Given the description of an element on the screen output the (x, y) to click on. 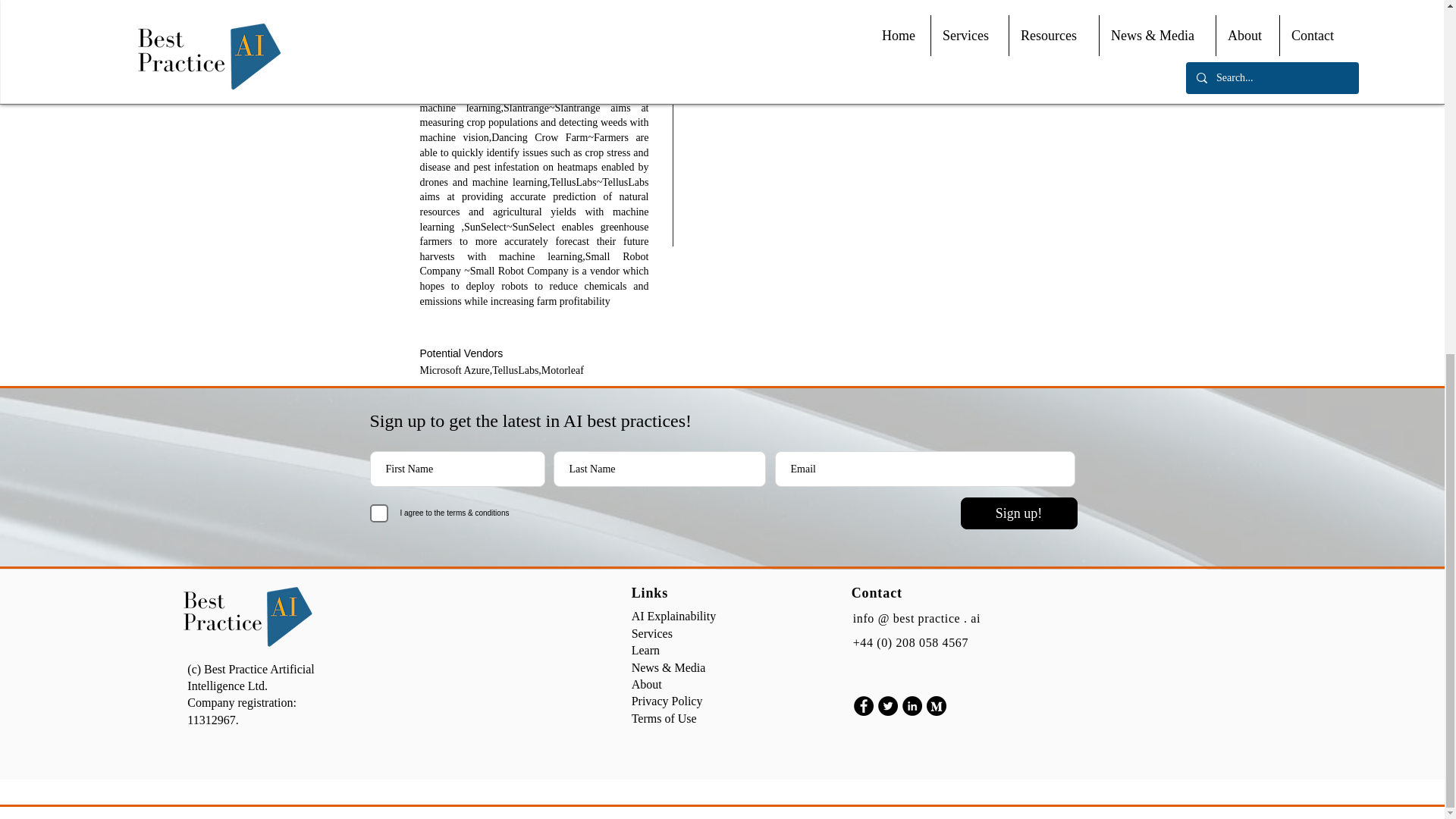
Contact (876, 592)
Privacy Policy (667, 700)
Services (651, 633)
Learn (645, 649)
Sign up! (1018, 513)
About (646, 684)
Terms of Use (664, 717)
AI Explainability (673, 615)
